Given the description of an element on the screen output the (x, y) to click on. 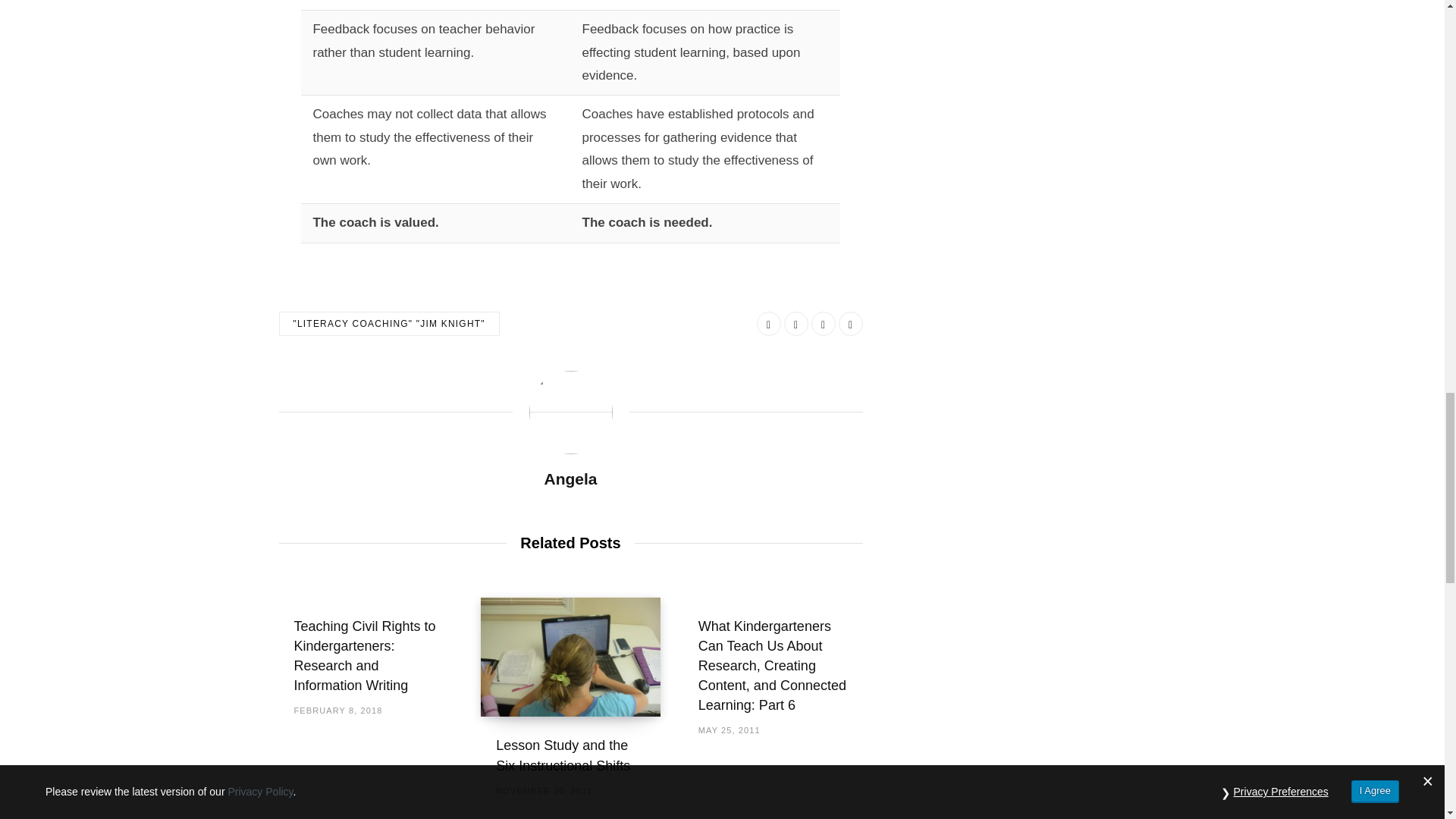
Share on Facebook (768, 323)
Posts by Angela (569, 478)
Angela (569, 478)
Lesson Study and the Six Instructional Shifts (570, 657)
LinkedIn (822, 323)
Lesson Study and the Six Instructional Shifts (563, 755)
Pinterest (850, 323)
"LITERACY COACHING" "JIM KNIGHT" (389, 323)
